Given the description of an element on the screen output the (x, y) to click on. 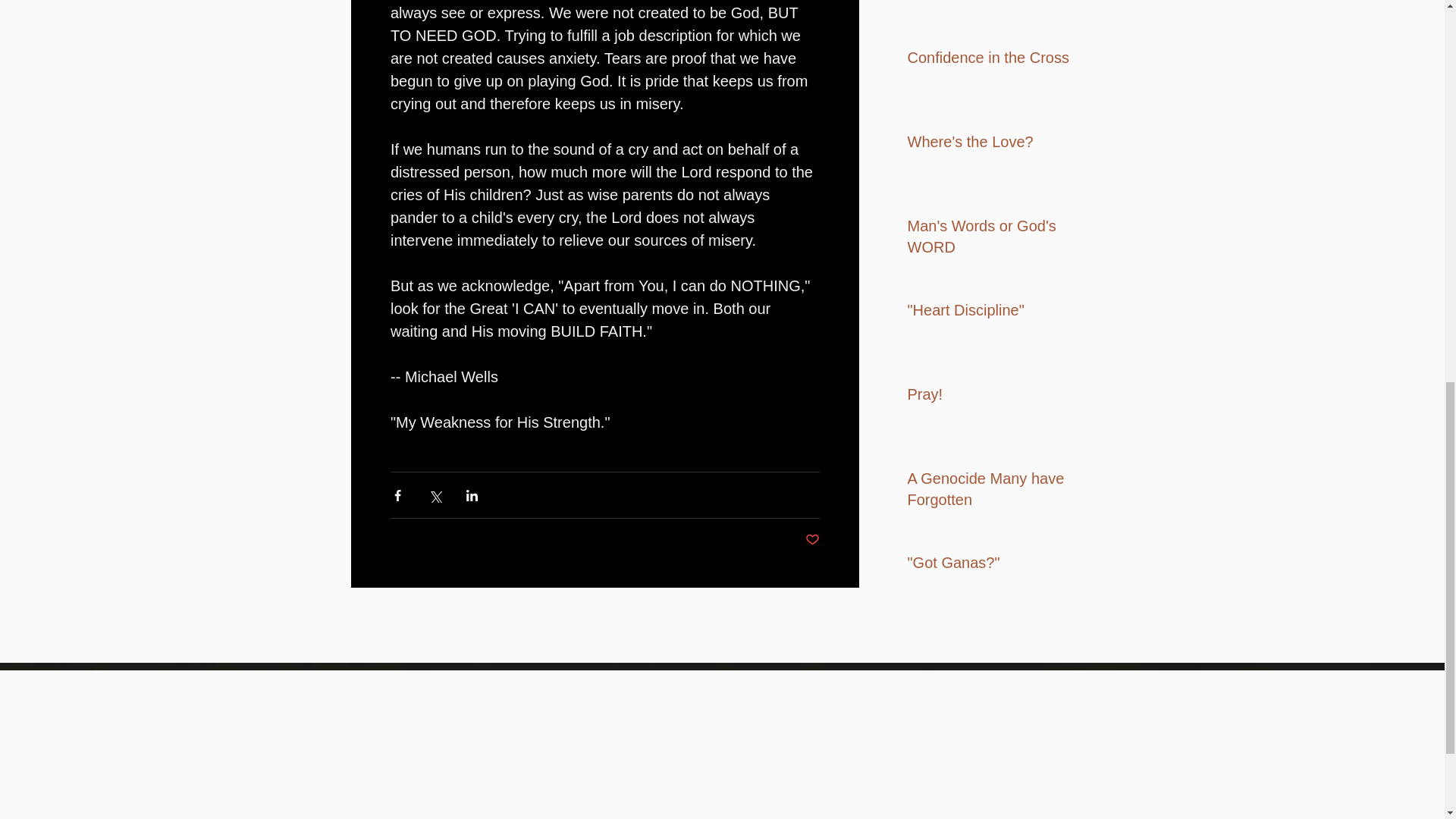
Post not marked as liked (812, 539)
A Genocide Many have Forgotten (995, 491)
Confidence in the Cross (995, 60)
Where's the Love? (995, 144)
Pray! (995, 397)
"Heart Discipline" (995, 312)
Man's Words or God's WORD (995, 239)
"Got Ganas?" (995, 565)
